Given the description of an element on the screen output the (x, y) to click on. 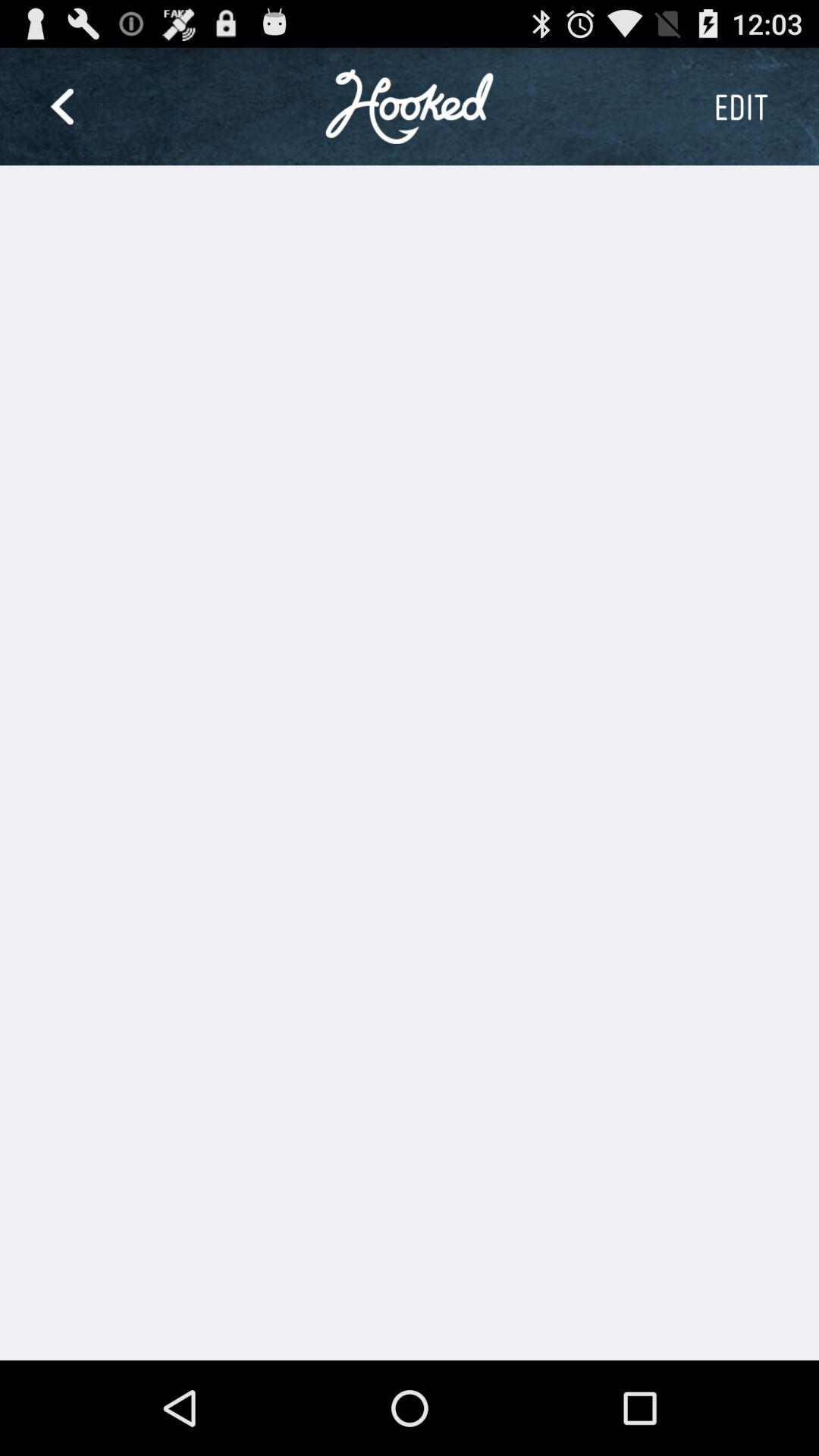
choose edit button (740, 106)
